Given the description of an element on the screen output the (x, y) to click on. 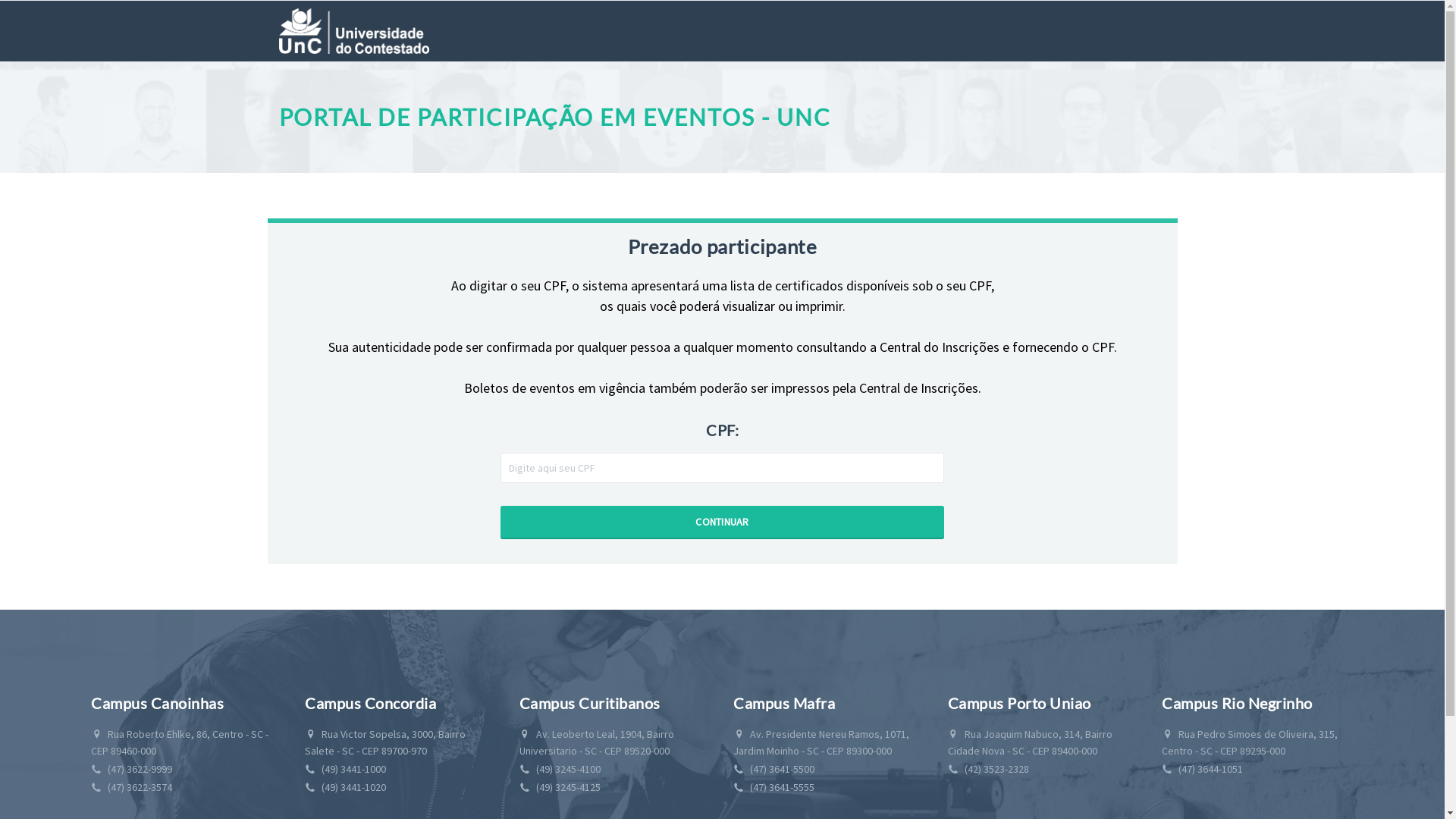
Continuar Element type: text (722, 522)
